Given the description of an element on the screen output the (x, y) to click on. 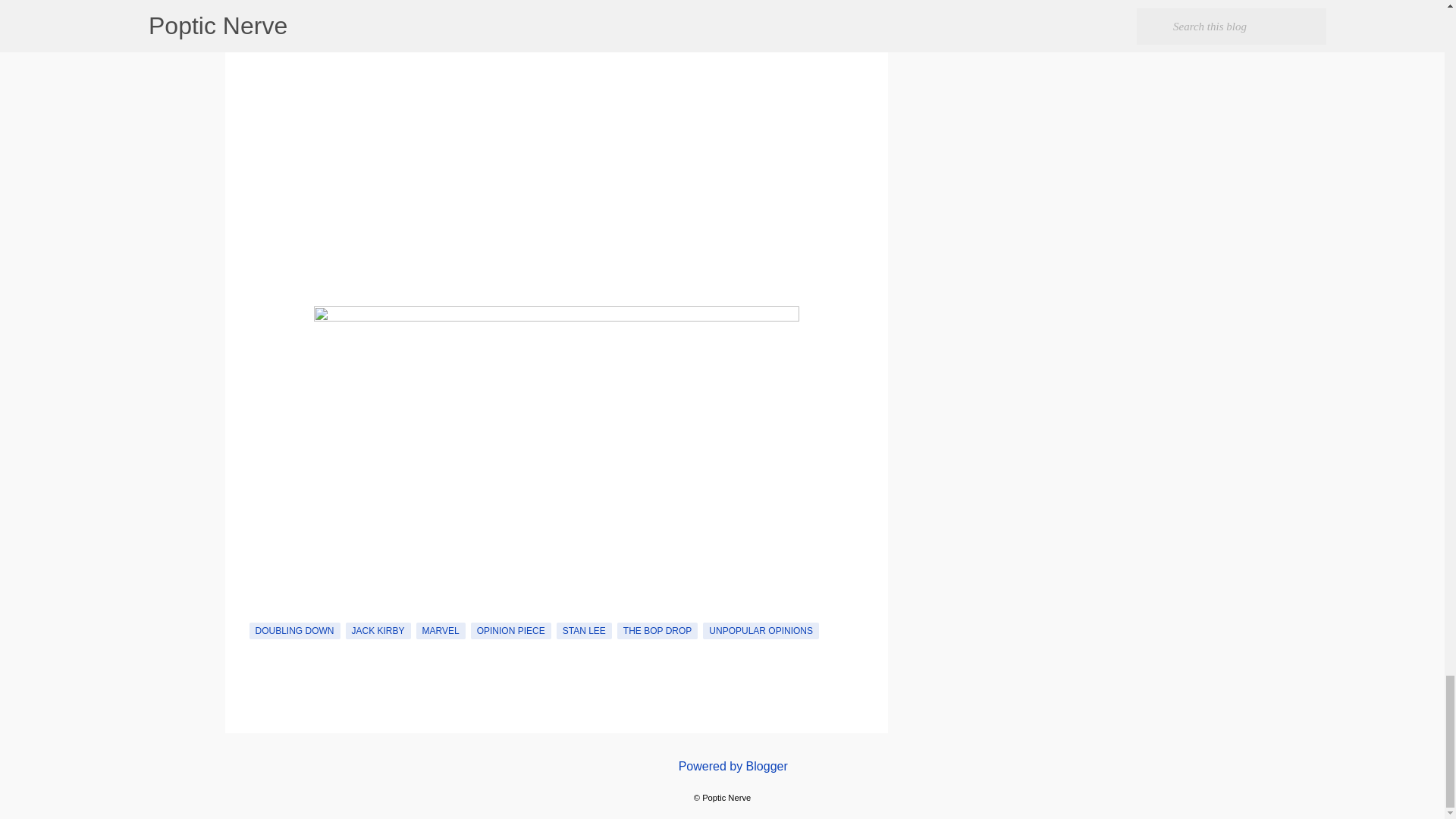
UNPOPULAR OPINIONS (760, 630)
STAN LEE (583, 630)
THE BOP DROP (657, 630)
OPINION PIECE (510, 630)
MARVEL (440, 630)
Powered by Blogger (721, 766)
JACK KIRBY (378, 630)
DOUBLING DOWN (293, 630)
